Given the description of an element on the screen output the (x, y) to click on. 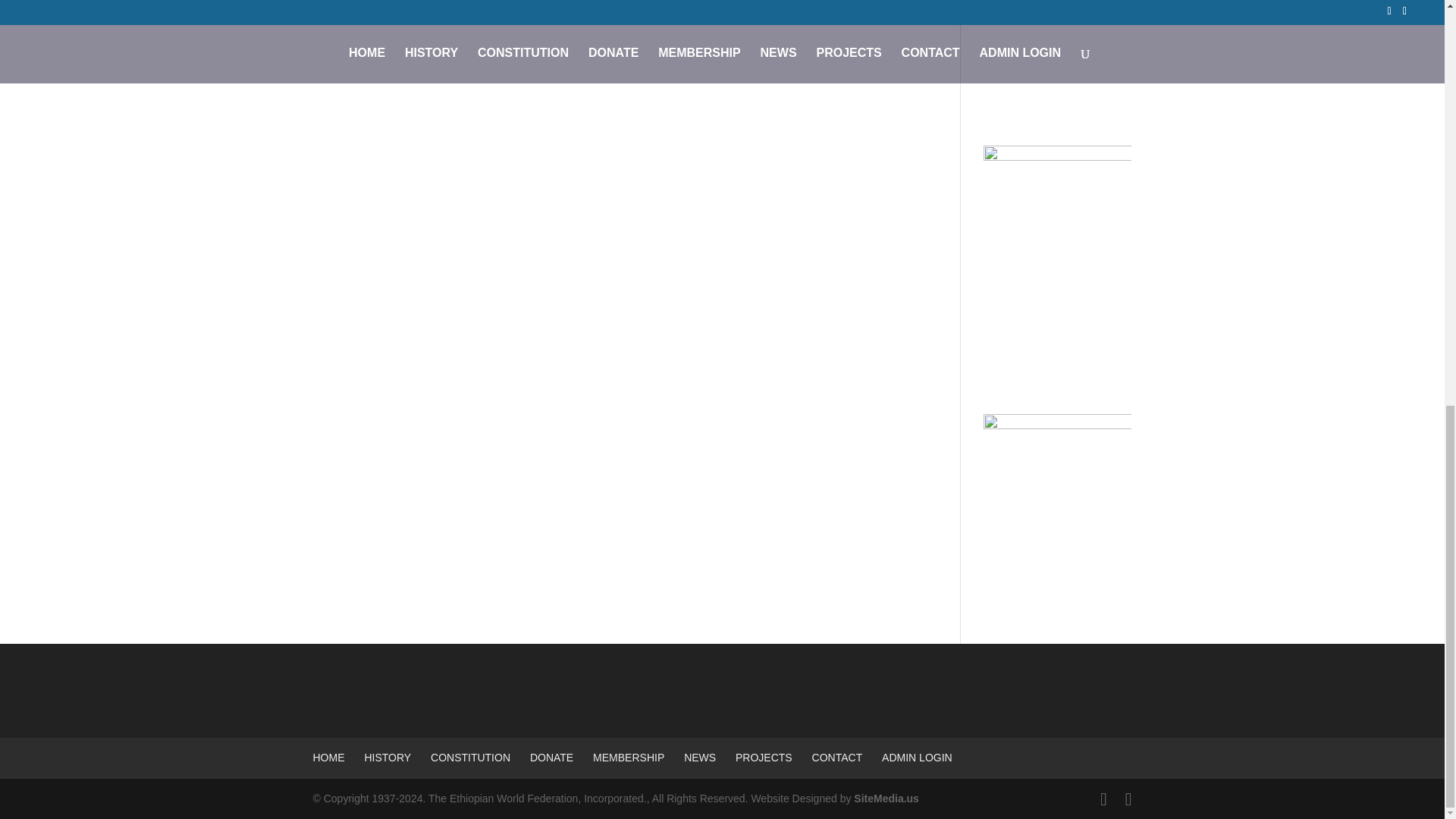
SiteMedia.us (885, 798)
HOME (328, 757)
HISTORY (387, 757)
ADMIN LOGIN (917, 757)
DONATE (551, 757)
CONTACT (837, 757)
MEMBERSHIP (627, 757)
PROJECTS (763, 757)
NEWS (700, 757)
CONSTITUTION (470, 757)
